Given the description of an element on the screen output the (x, y) to click on. 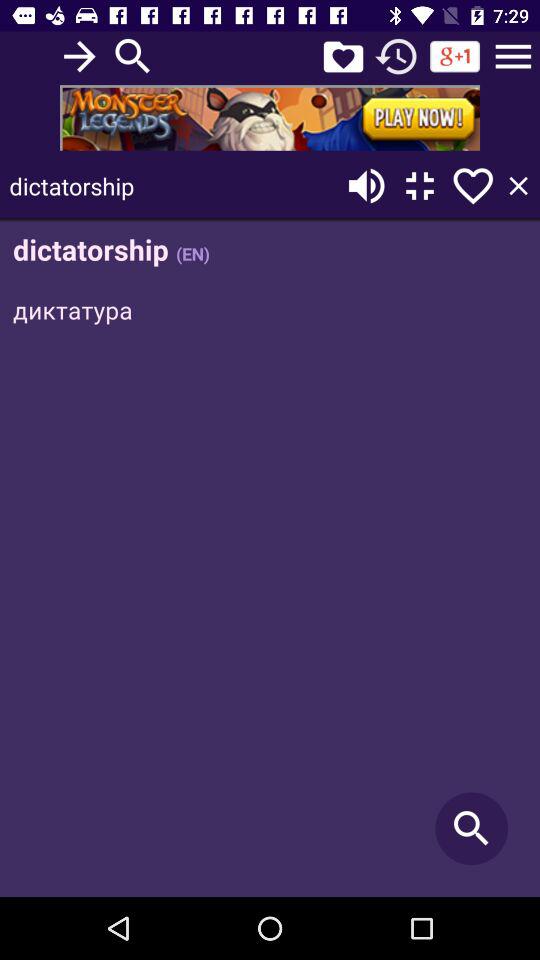
go to rating (343, 56)
